Given the description of an element on the screen output the (x, y) to click on. 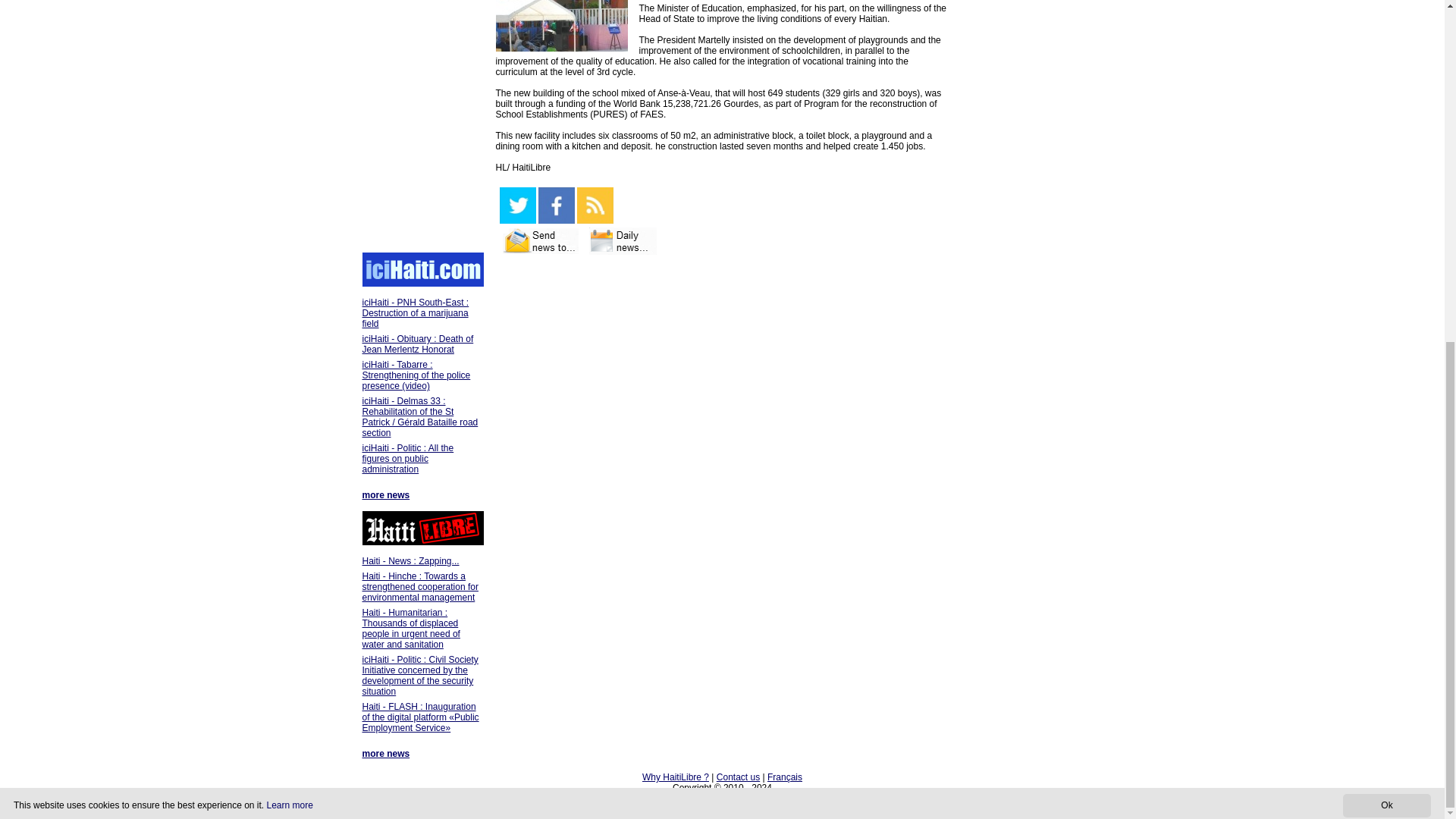
more news (386, 494)
Haiti - News : Zapping... (411, 561)
iciHaiti - PNH South-East : Destruction of a marijuana field (415, 313)
more news (386, 753)
iciHaiti - Obituary : Death of Jean Merlentz Honorat (418, 343)
